Given the description of an element on the screen output the (x, y) to click on. 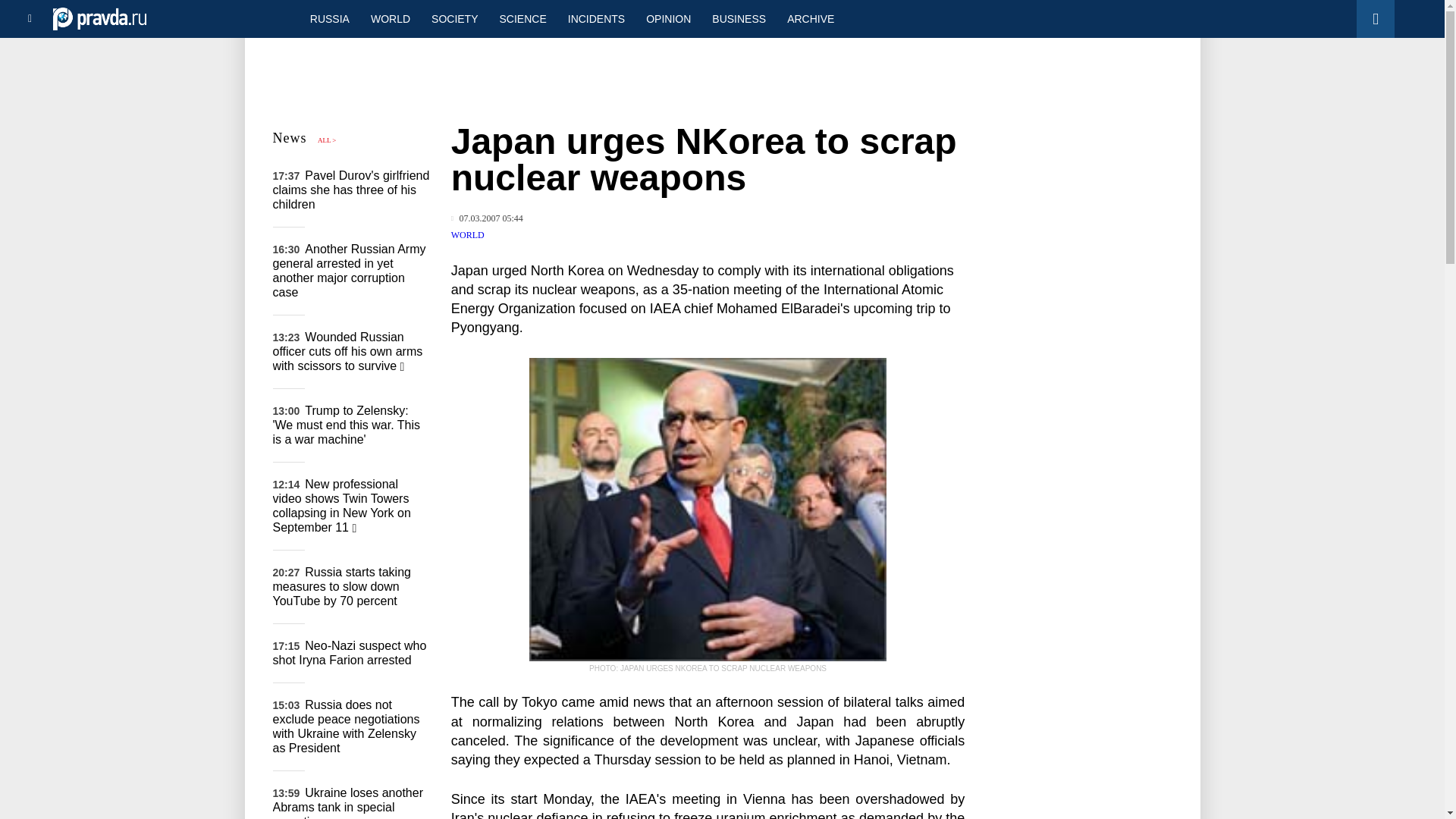
Neo-Nazi suspect who shot Iryna Farion arrested (349, 652)
Ukraine loses another Abrams tank in special operation zone (348, 802)
OPINION (667, 18)
Published (486, 218)
Japan urges NKorea to scrap nuclear weapons (707, 508)
ARCHIVE (810, 18)
INCIDENTS (595, 18)
RUSSIA (329, 18)
WORLD (467, 235)
SOCIETY (453, 18)
News (290, 137)
